Given the description of an element on the screen output the (x, y) to click on. 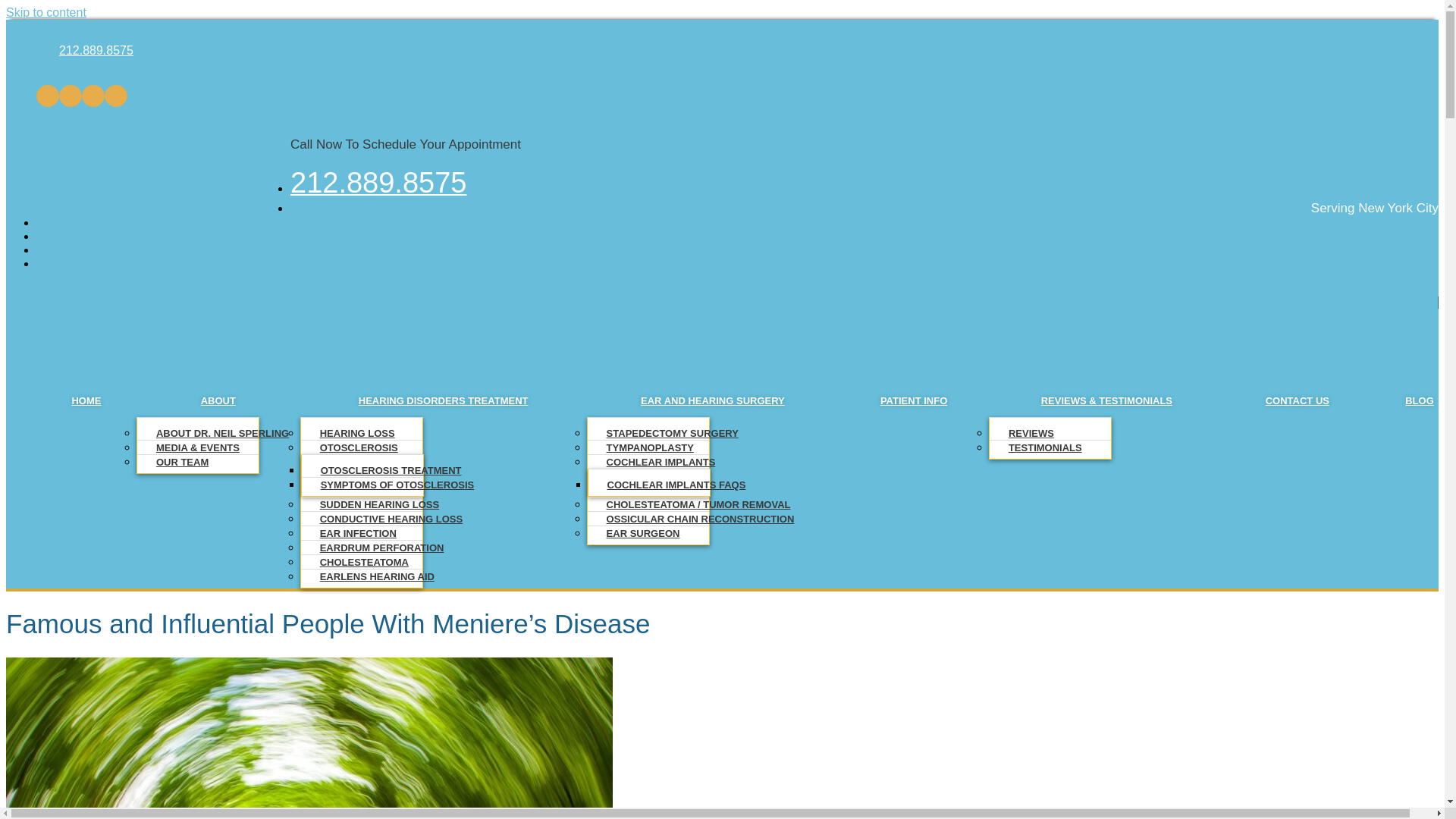
EAR AND HEARING SURGERY (713, 400)
SUDDEN HEARING LOSS (379, 504)
HEARING DISORDERS TREATMENT (442, 400)
HOME (86, 400)
TESTIMONIALS (1045, 447)
HEARING LOSS (357, 432)
212.889.8575 (377, 186)
STAPEDECTOMY SURGERY (672, 432)
Skip to content (45, 11)
ABOUT DR. NEIL SPERLING (221, 432)
